Given the description of an element on the screen output the (x, y) to click on. 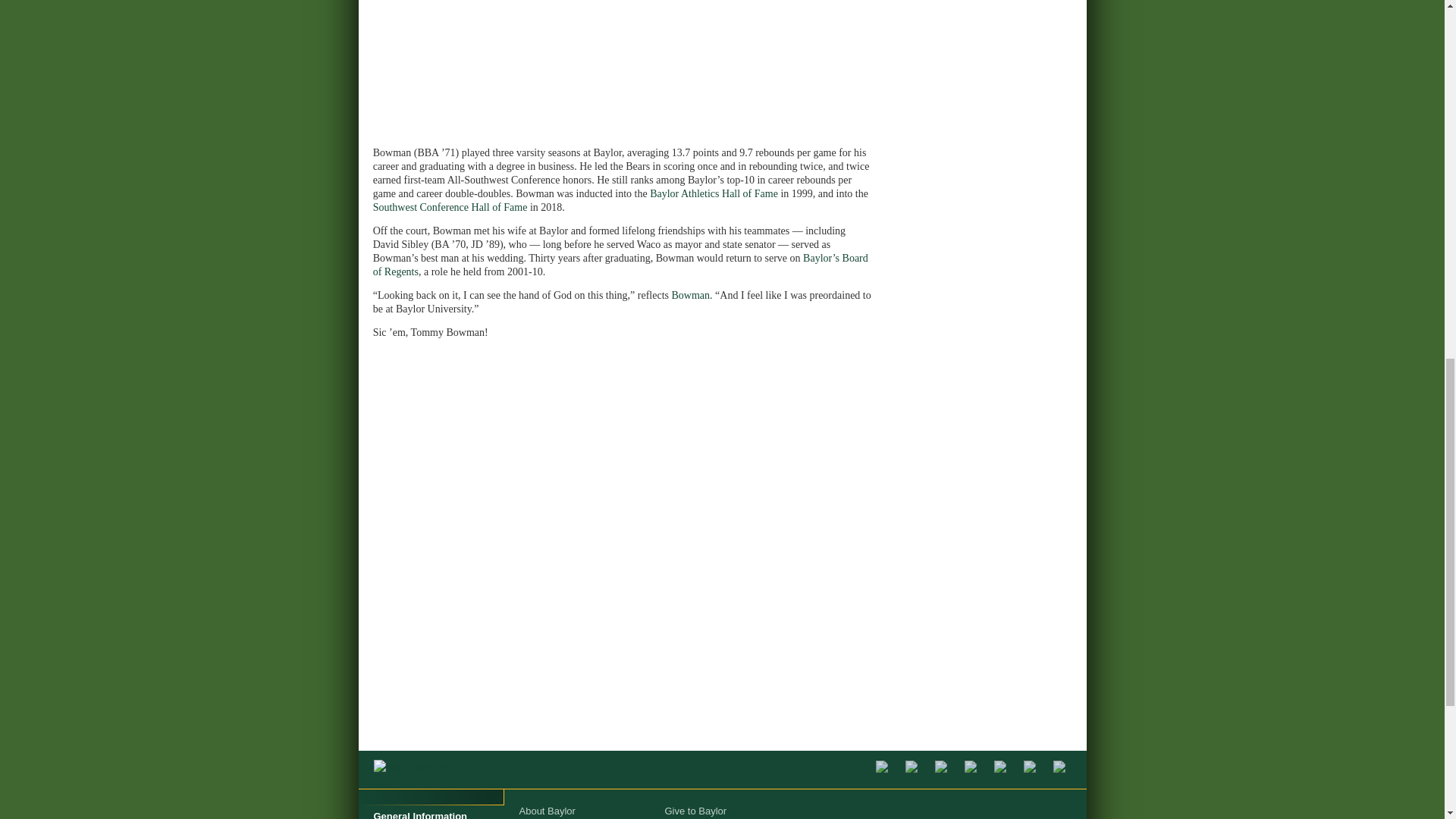
Bowman (690, 295)
Southwest Conference Hall of Fame (449, 206)
Baylor Athletics Hall of Fame (713, 193)
